Given the description of an element on the screen output the (x, y) to click on. 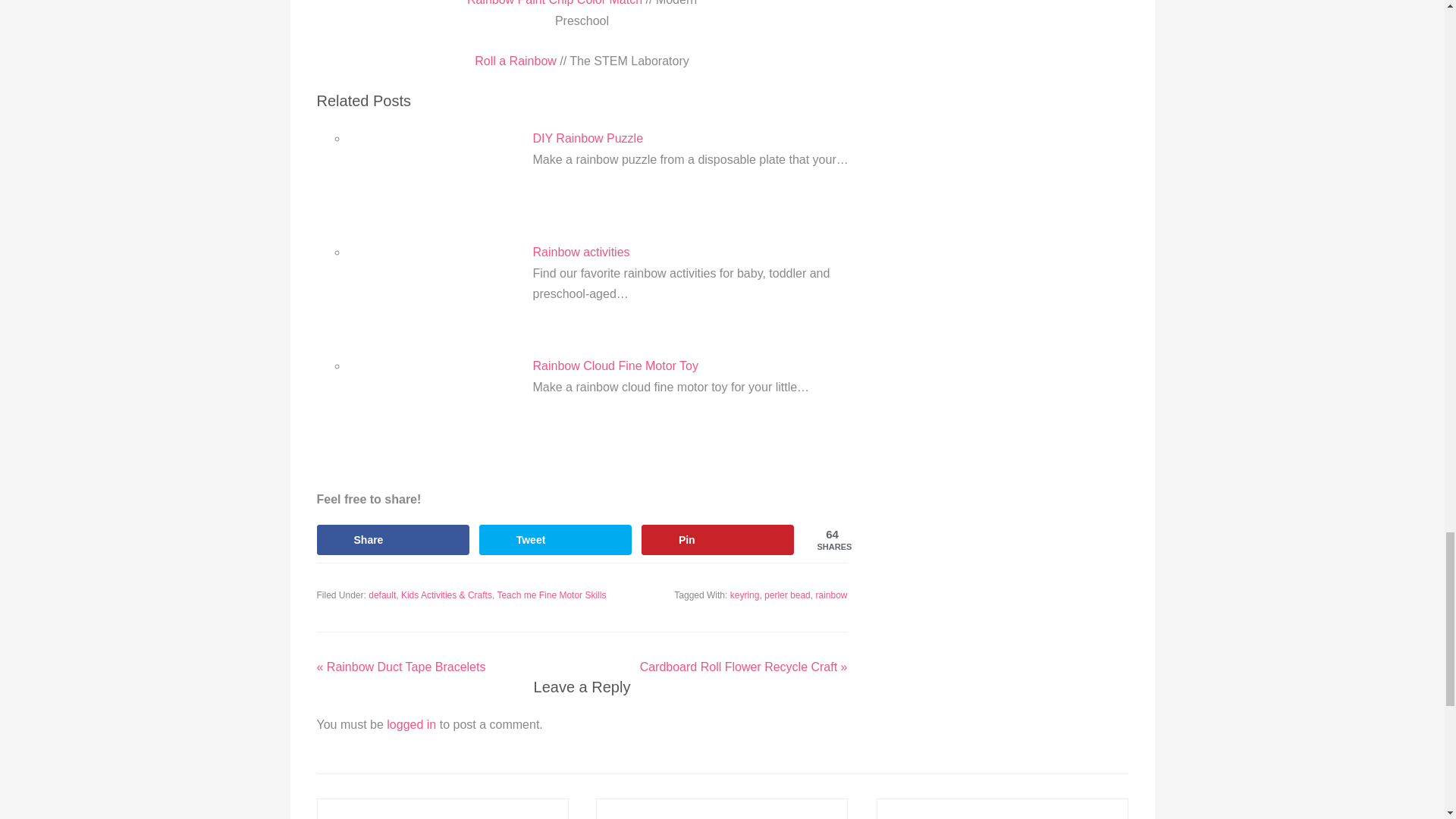
Share on Twitter (555, 539)
Save to Pinterest (718, 539)
Share on Facebook (393, 539)
